Given the description of an element on the screen output the (x, y) to click on. 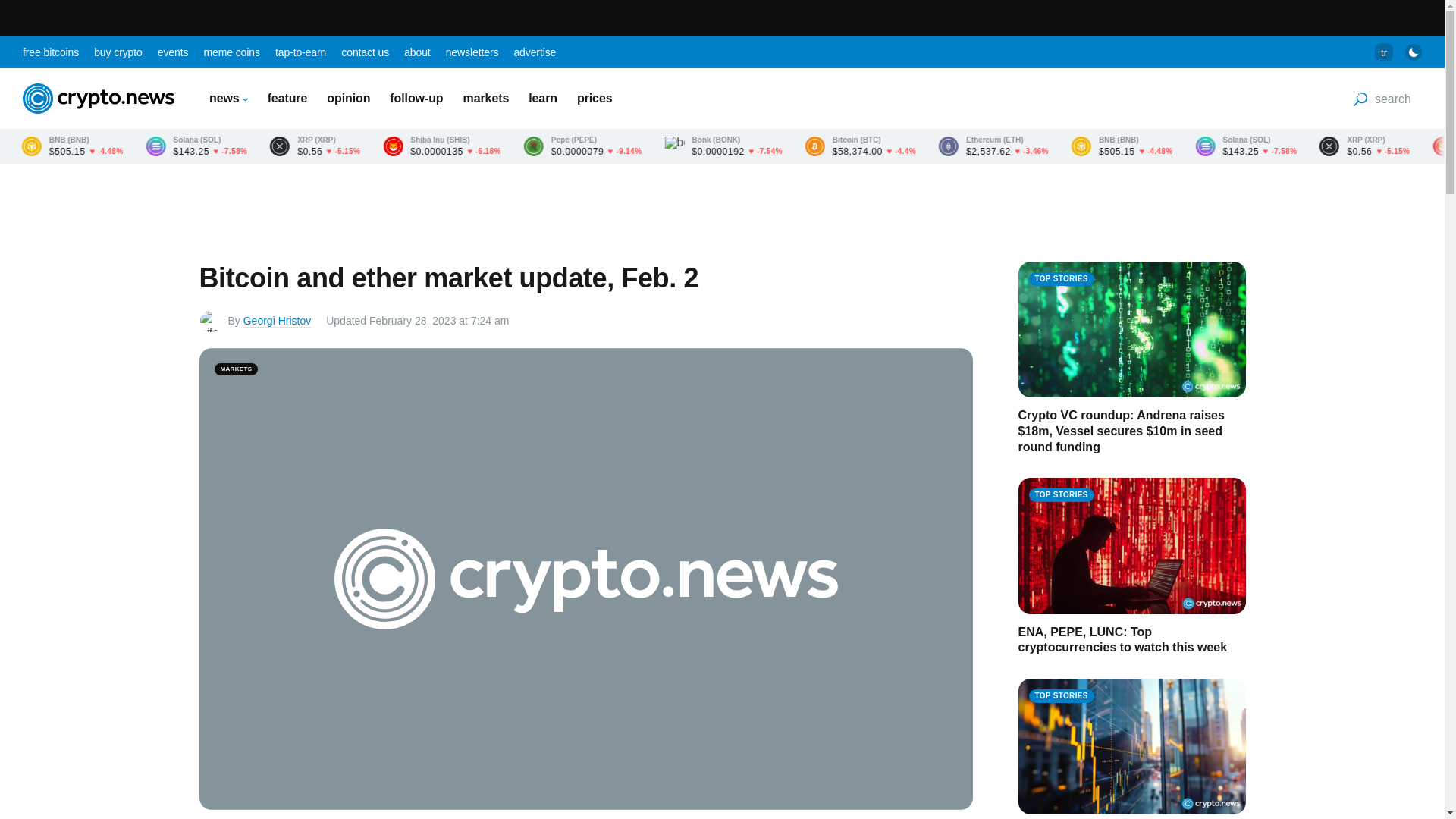
Solana price (371, 145)
markets (486, 97)
free bitcoins (50, 51)
opinion (347, 97)
contact us (364, 51)
learn (542, 97)
tr (1383, 52)
feature (287, 97)
buy crypto (118, 51)
crypto.news (98, 98)
